Given the description of an element on the screen output the (x, y) to click on. 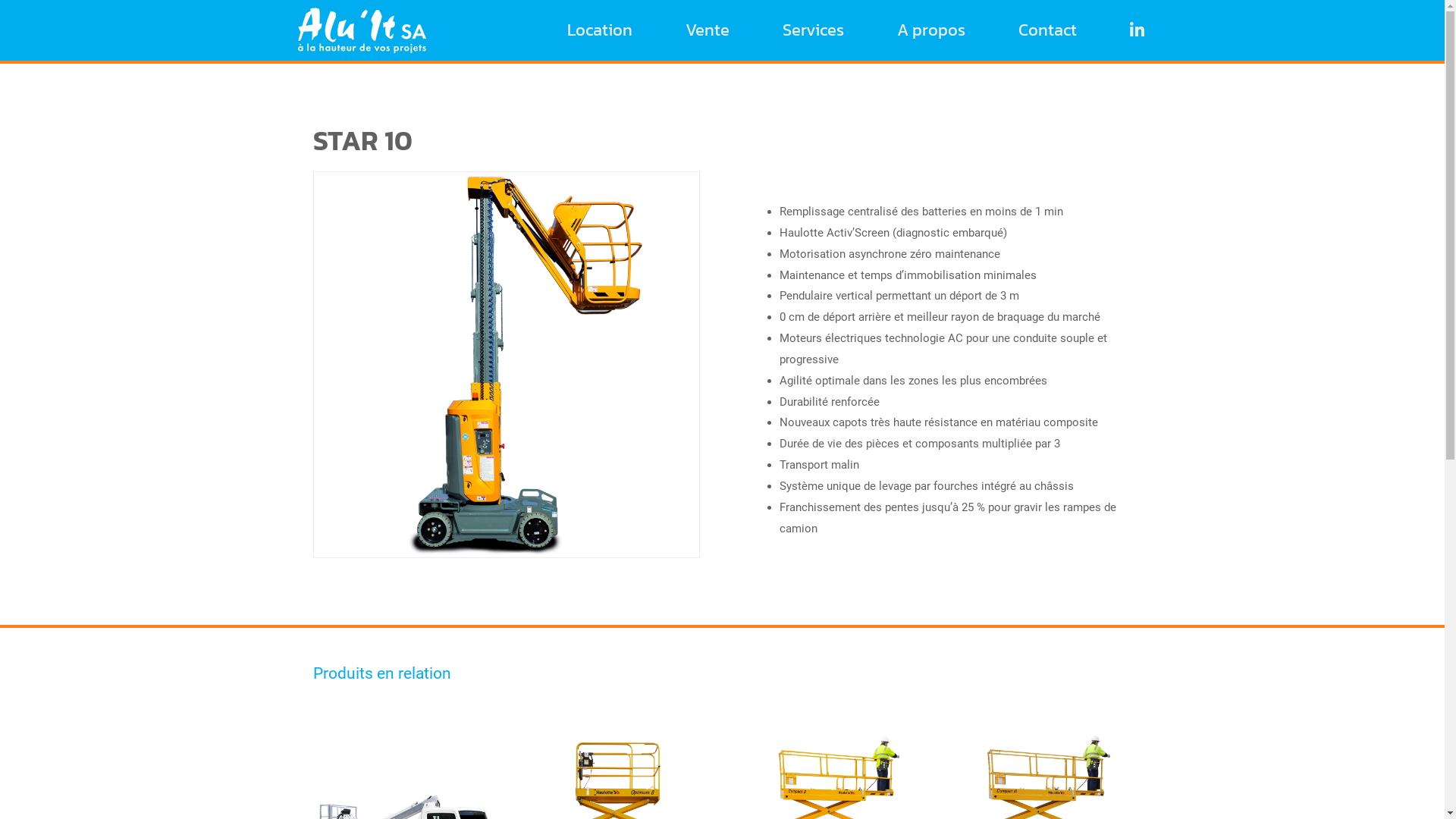
Contact Element type: text (1047, 30)
Vente Element type: text (707, 30)
A propos Element type: text (931, 30)
Location Element type: text (599, 30)
Services Element type: text (813, 30)
